Given the description of an element on the screen output the (x, y) to click on. 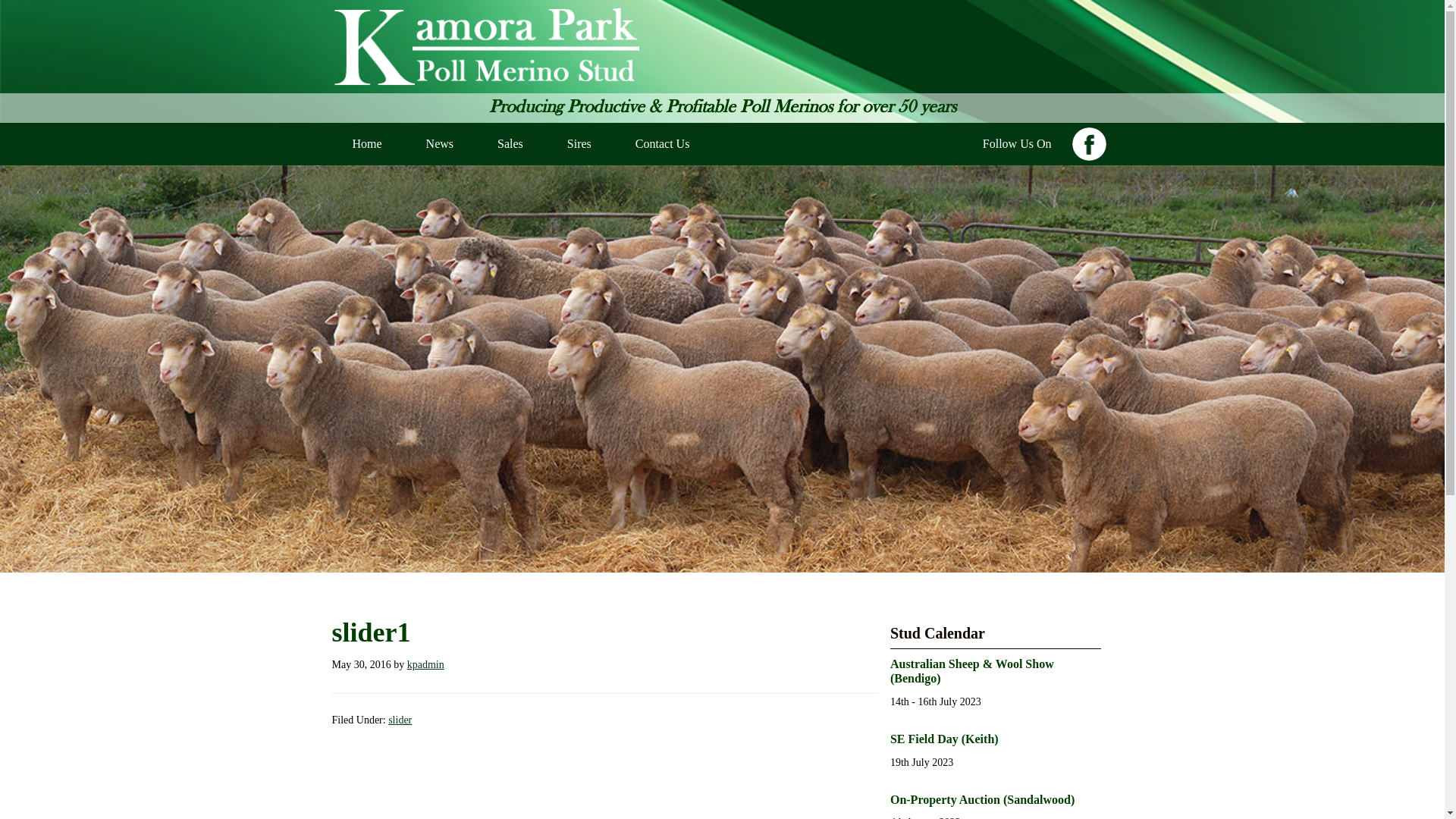
Follow Us On Element type: text (1017, 143)
Sires Element type: text (578, 143)
Contact Us Element type: text (662, 143)
Kamora Park Poll Merino Stud Element type: text (722, 46)
Home Element type: text (367, 143)
kpadmin Element type: text (425, 664)
slider Element type: text (399, 719)
News Element type: text (439, 143)
Facebook Element type: text (1092, 141)
Sales Element type: text (509, 143)
